Given the description of an element on the screen output the (x, y) to click on. 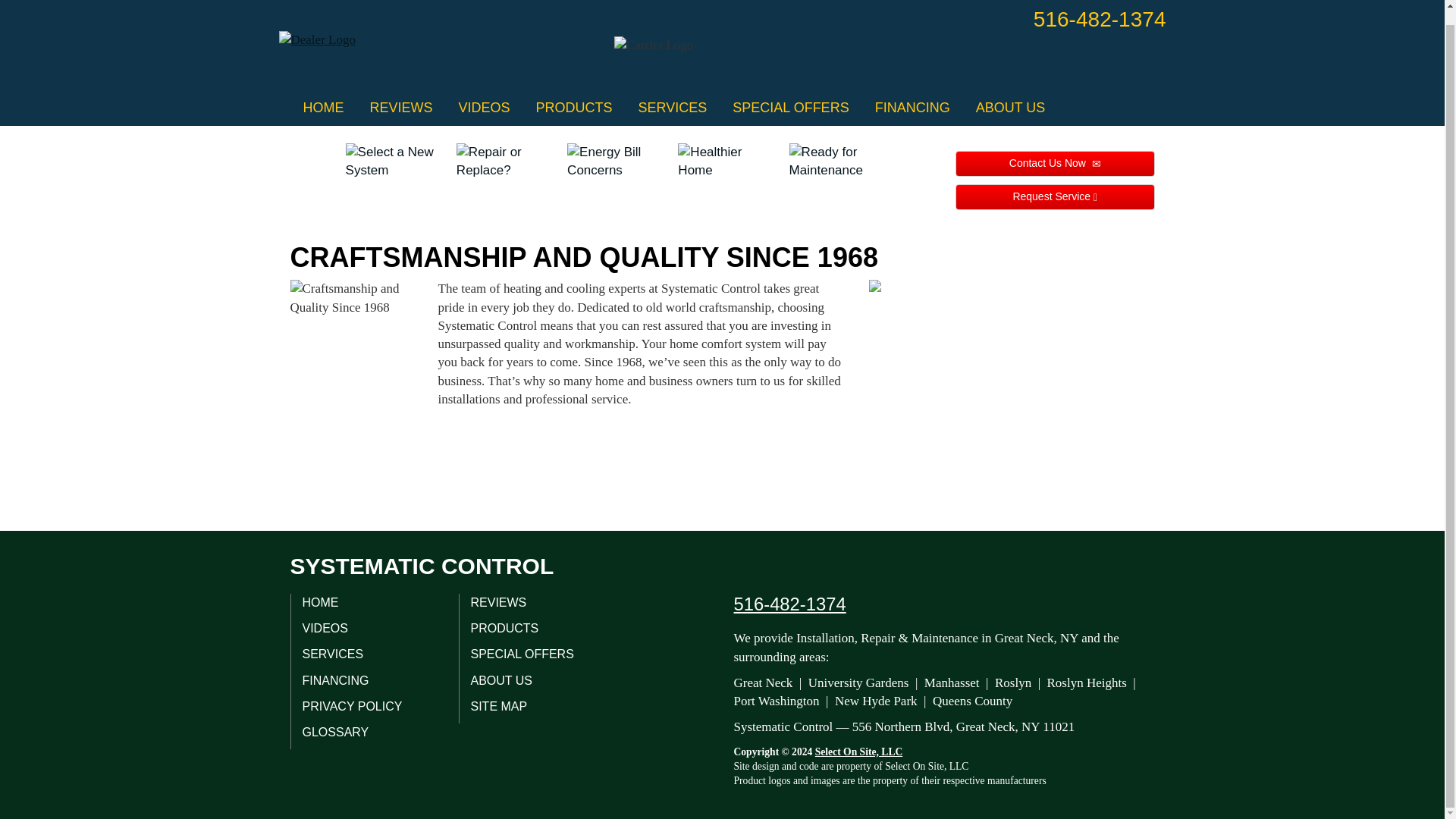
516-482-1374 (1099, 19)
SERVICES (673, 107)
REVIEWS (400, 107)
ABOUT US (1010, 107)
FINANCING (911, 107)
PRODUCTS (574, 107)
HOME (322, 107)
SPECIAL OFFERS (790, 107)
VIDEOS (483, 107)
